Given the description of an element on the screen output the (x, y) to click on. 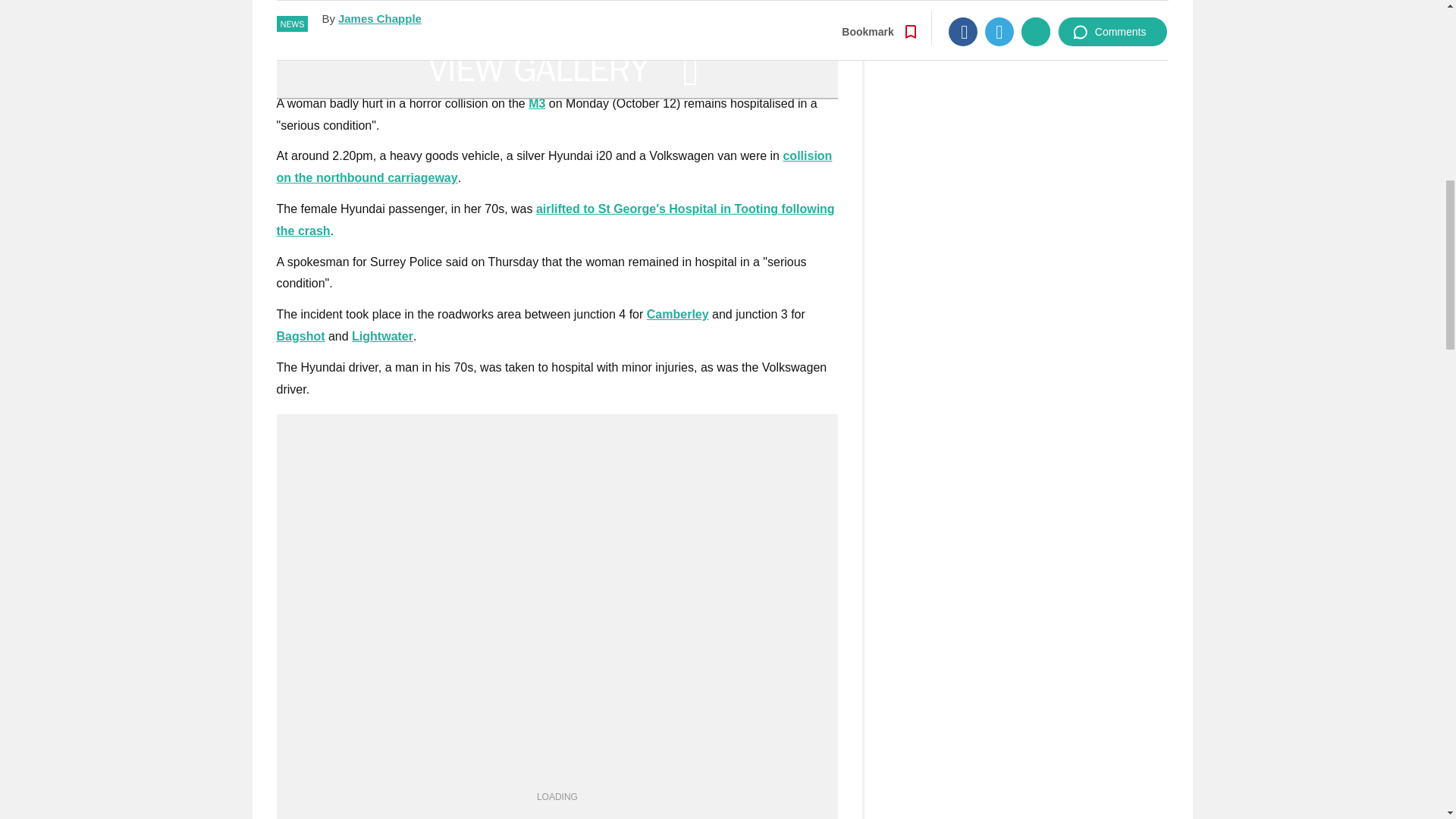
Camberley (677, 314)
M3 (536, 103)
Bagshot (300, 336)
Lightwater (382, 336)
